Given the description of an element on the screen output the (x, y) to click on. 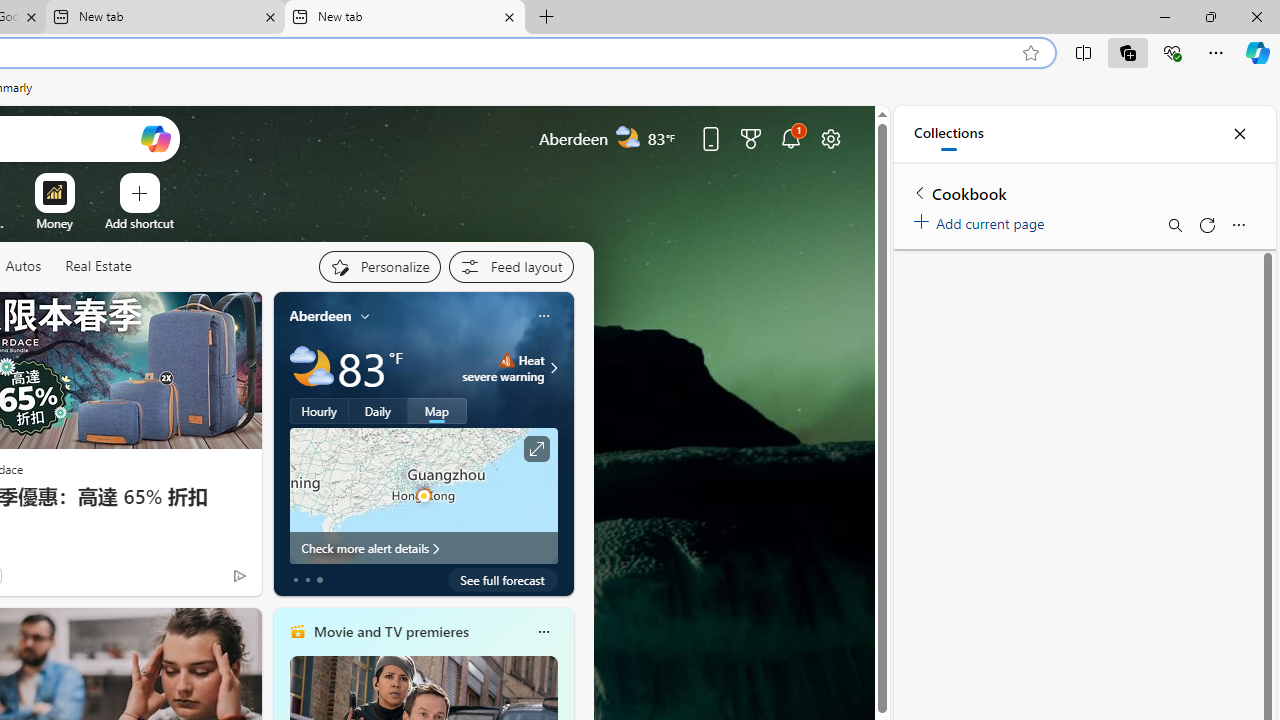
Notifications (790, 138)
tab-1 (306, 579)
Page settings (831, 138)
Feed settings (510, 266)
tab-0 (295, 579)
